Given the description of an element on the screen output the (x, y) to click on. 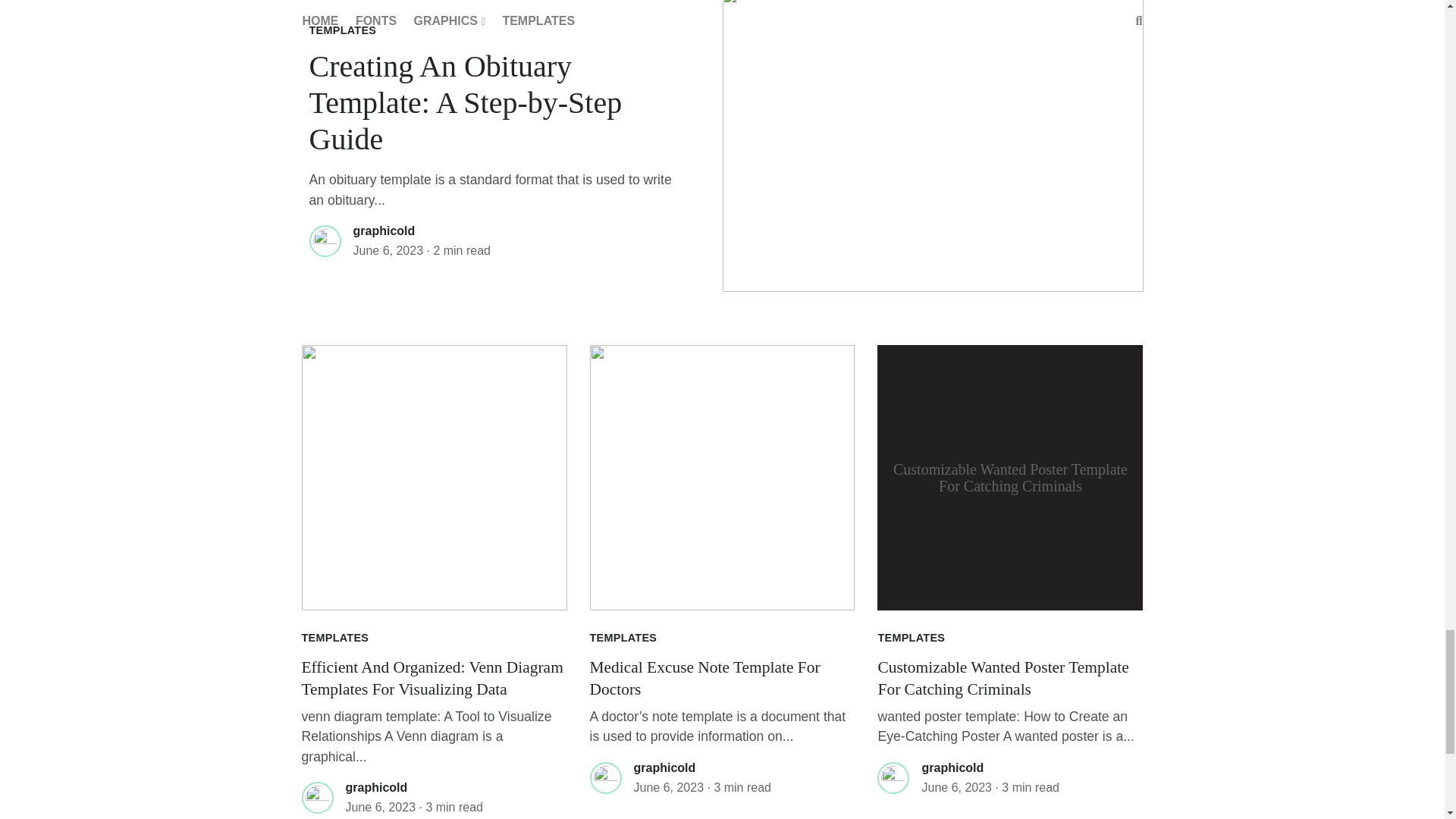
Posts by graphicold (383, 230)
Creating An Obituary Template: A Step-by-Step Guide (465, 102)
Posts by graphicold (664, 767)
Posts by graphicold (952, 767)
Posts by graphicold (376, 787)
TEMPLATES (342, 30)
